Given the description of an element on the screen output the (x, y) to click on. 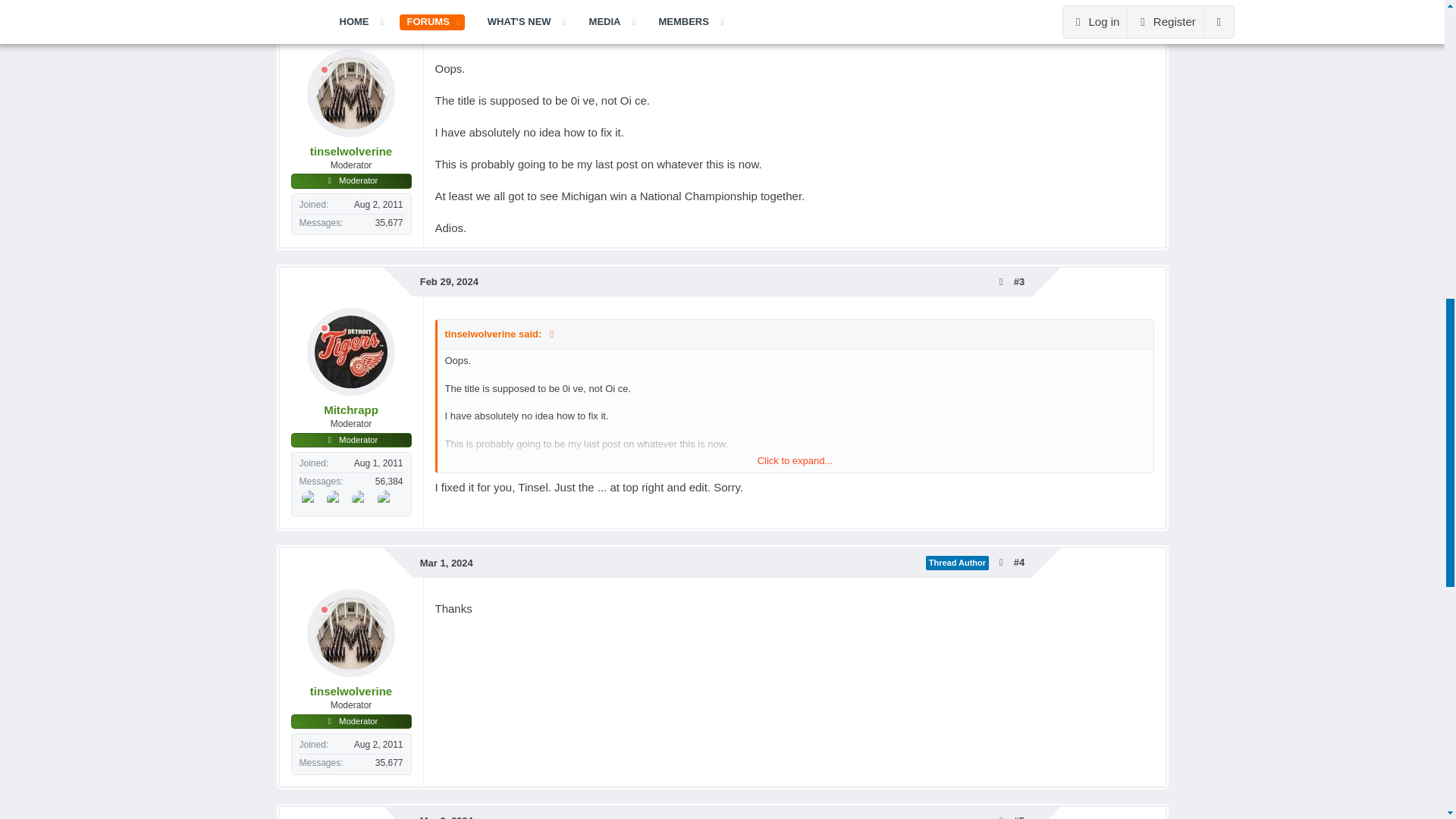
Feb 29, 2024 at 1:46 AM (449, 281)
Mar 2, 2024 at 2:03 AM (446, 816)
Mar 1, 2024 at 6:56 PM (446, 562)
Feb 29, 2024 at 1:16 AM (449, 22)
